Given the description of an element on the screen output the (x, y) to click on. 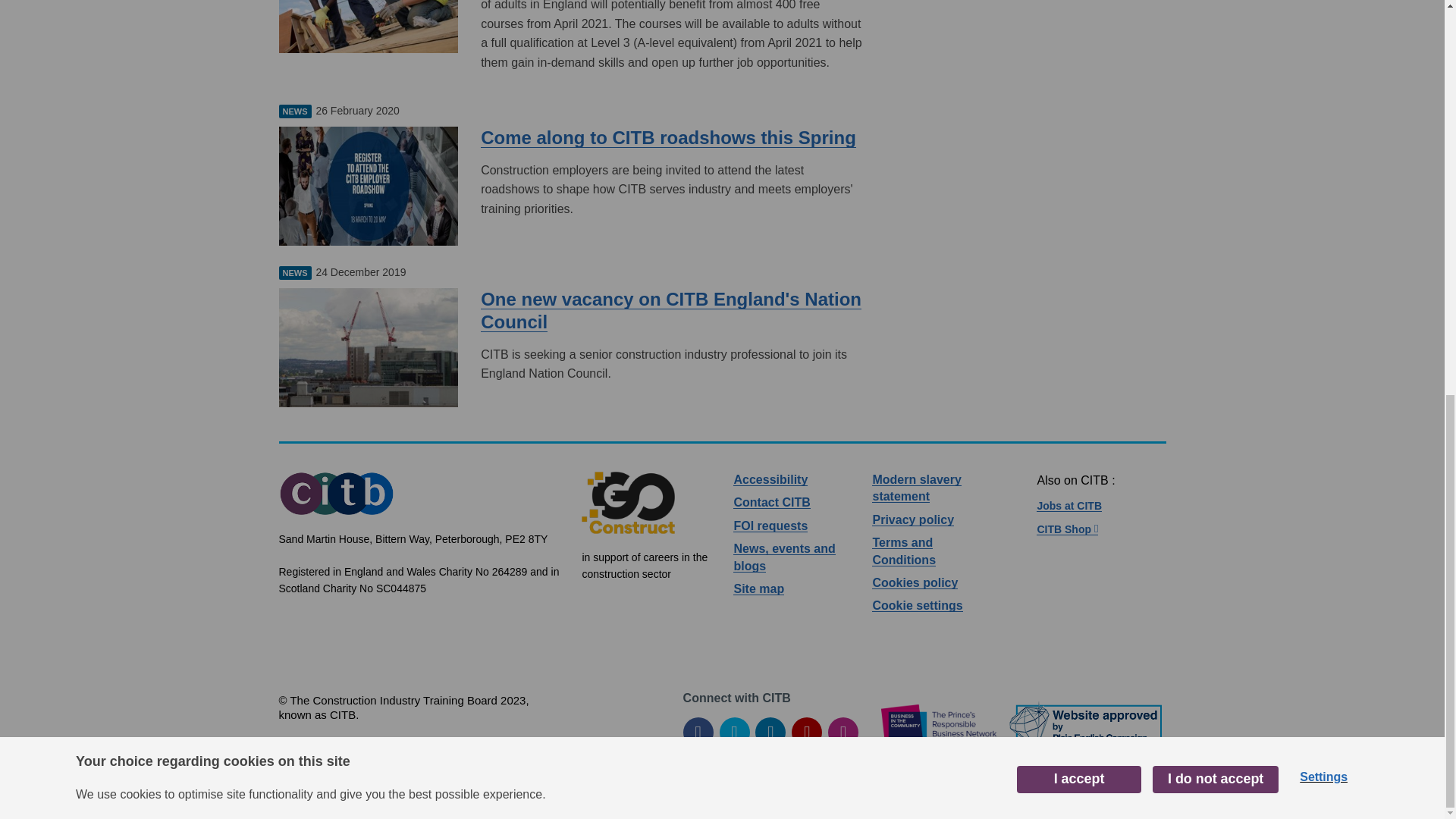
Settings (1323, 15)
i do not accept (1215, 18)
i accept (1078, 20)
